Given the description of an element on the screen output the (x, y) to click on. 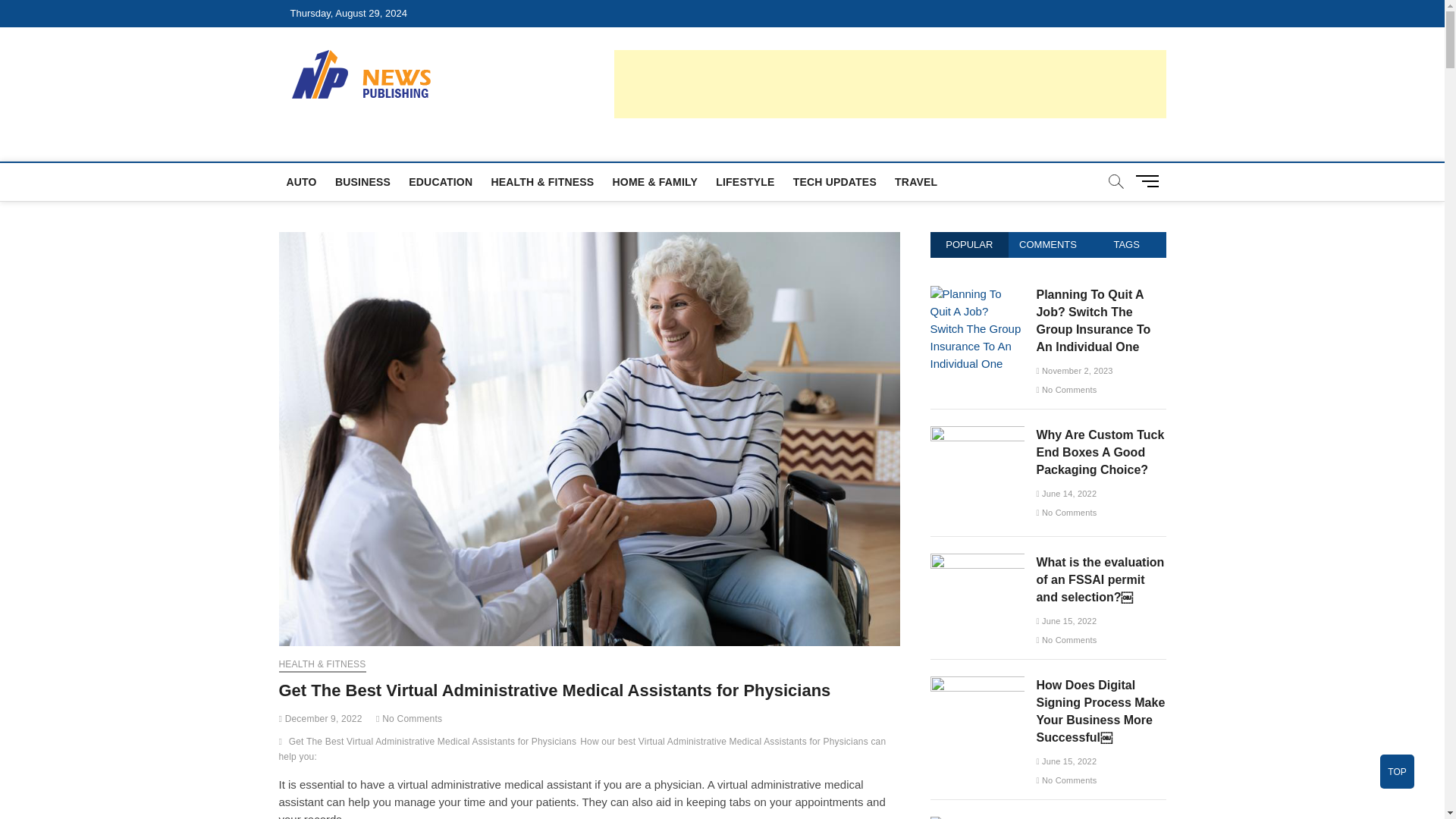
LIFESTYLE (744, 181)
December 9, 2022 (320, 718)
December 9, 2022 (320, 718)
POPULAR (969, 244)
TAGS (1126, 244)
No Comments (408, 718)
November 2, 2023 (1073, 370)
June 15, 2022 (1065, 620)
Why Are Custom Tuck End Boxes A Good Packaging Choice? (977, 433)
